Given the description of an element on the screen output the (x, y) to click on. 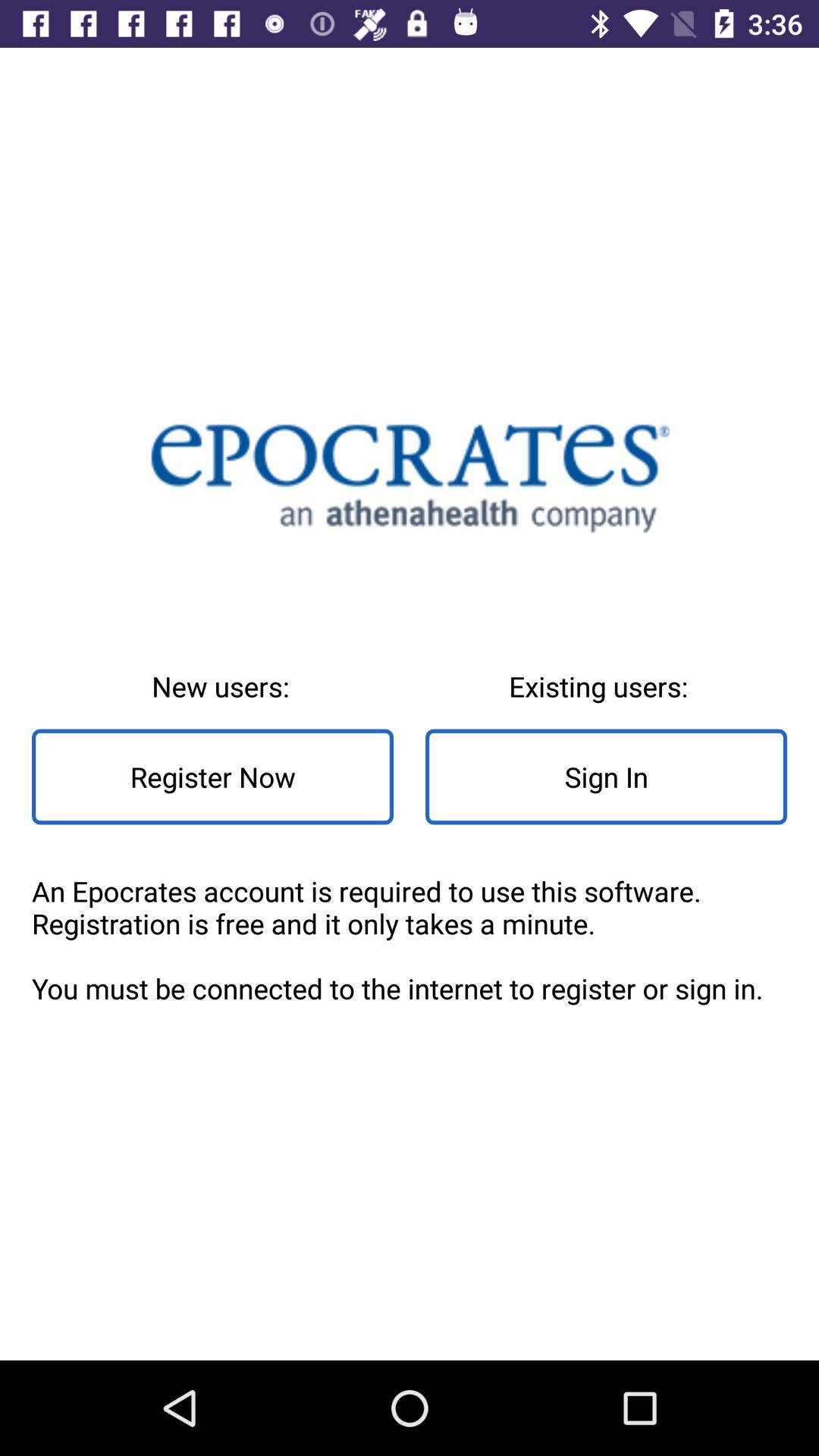
press the item next to the existing users: icon (212, 776)
